Given the description of an element on the screen output the (x, y) to click on. 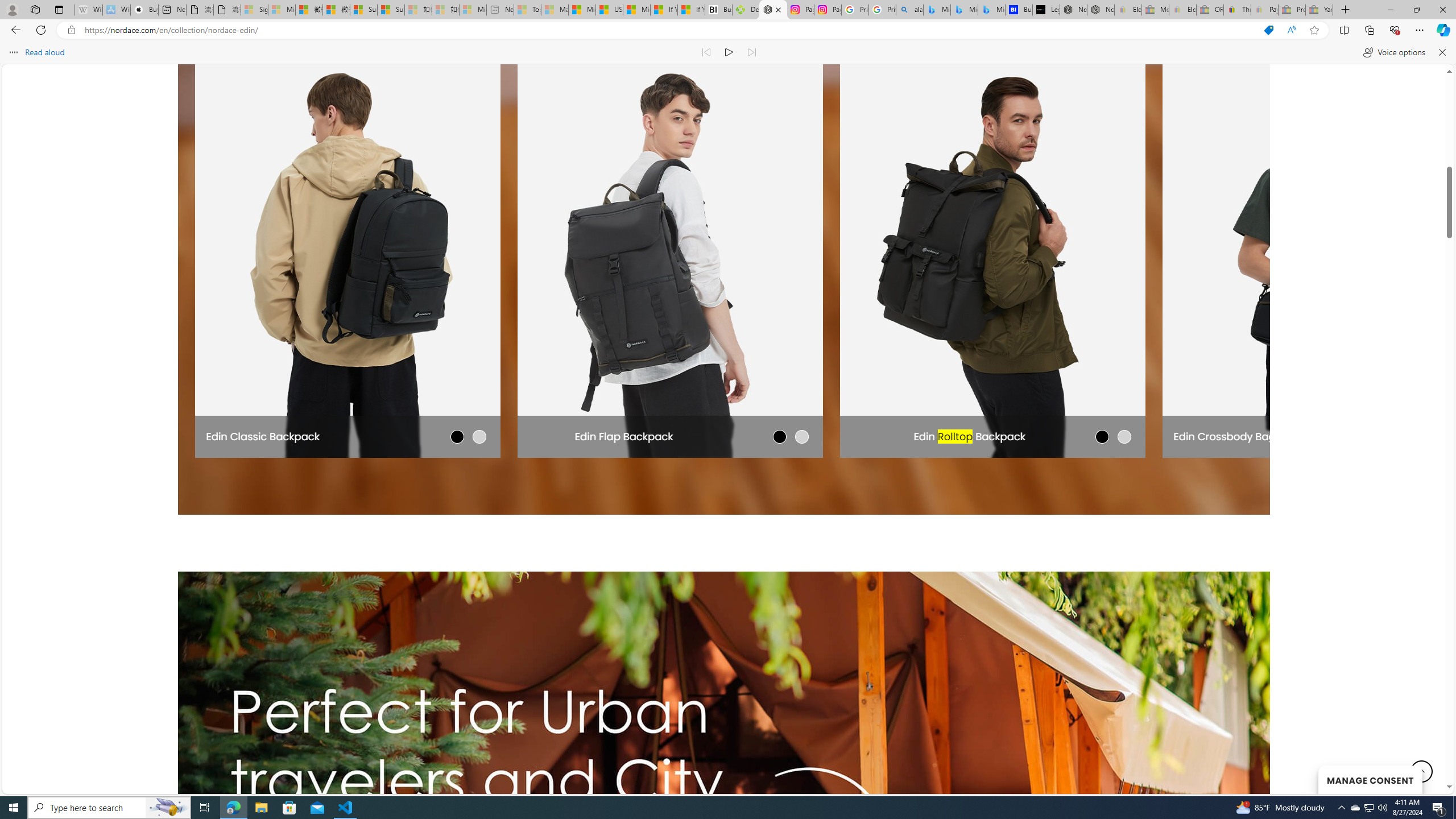
Payments Terms of Use | eBay.com - Sleeping (1264, 9)
This site has coupons! Shopping in Microsoft Edge (1268, 29)
Microsoft account | Account Checkup - Sleeping (473, 9)
Nordace - Nordace Edin Collection (773, 9)
Next (1221, 248)
Light Gray (478, 436)
Address and search bar (669, 29)
Collections (1369, 29)
Read next paragraph (750, 52)
Buy iPad - Apple (144, 9)
Split screen (1344, 29)
